Given the description of an element on the screen output the (x, y) to click on. 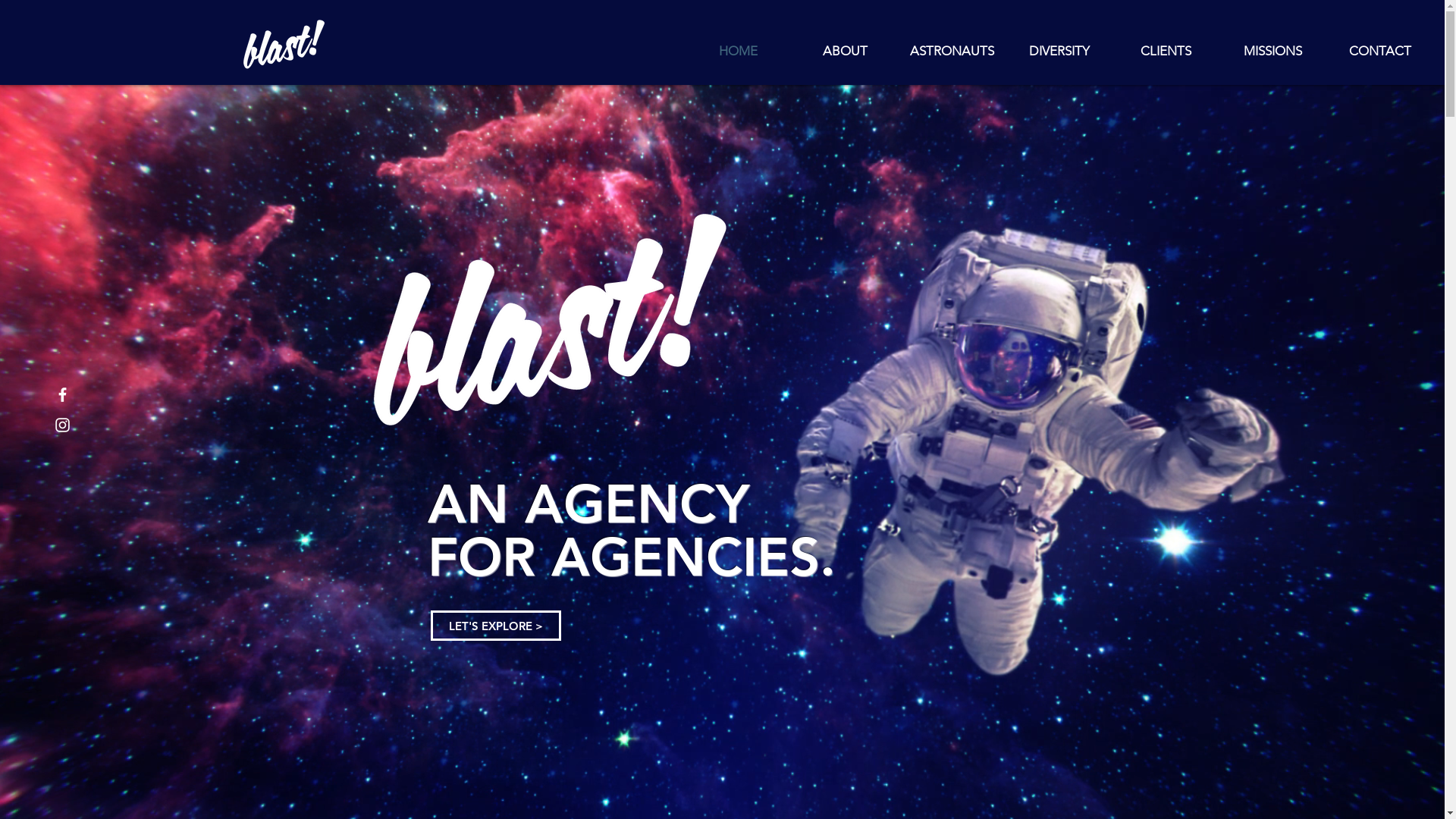
DIVERSITY Element type: text (1058, 50)
ABOUT Element type: text (844, 50)
CLIENTS Element type: text (1165, 50)
ASTRONAUTS Element type: text (951, 50)
HOME Element type: text (737, 50)
MISSIONS Element type: text (1272, 50)
CONTACT Element type: text (1379, 50)
LET'S EXPLORE > Element type: text (495, 625)
